Given the description of an element on the screen output the (x, y) to click on. 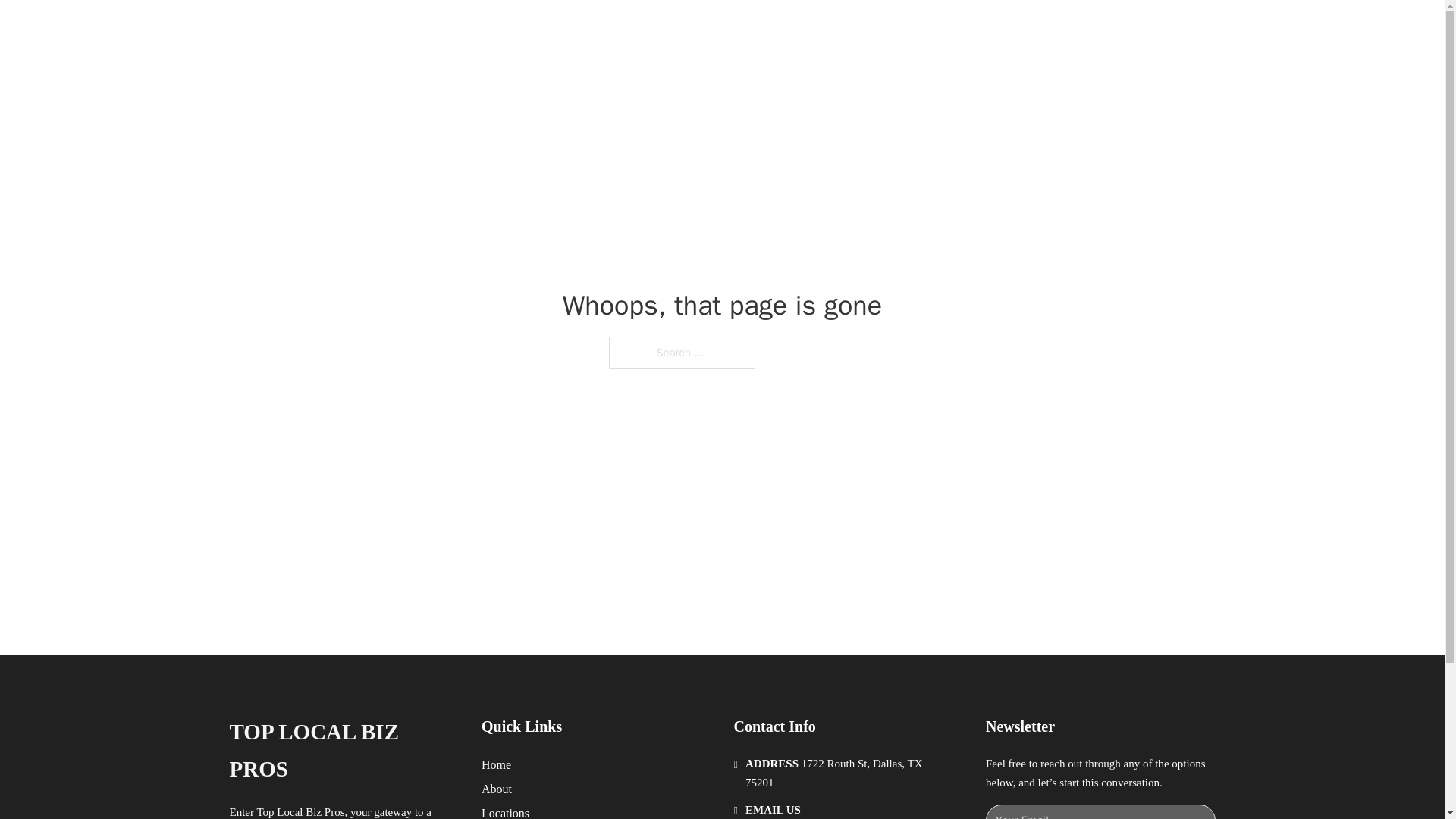
TOP LOCAL BIZ PROS (343, 750)
About (496, 788)
Home (496, 764)
Locations (505, 811)
TOP LOCAL BIZ PROS (415, 28)
